Given the description of an element on the screen output the (x, y) to click on. 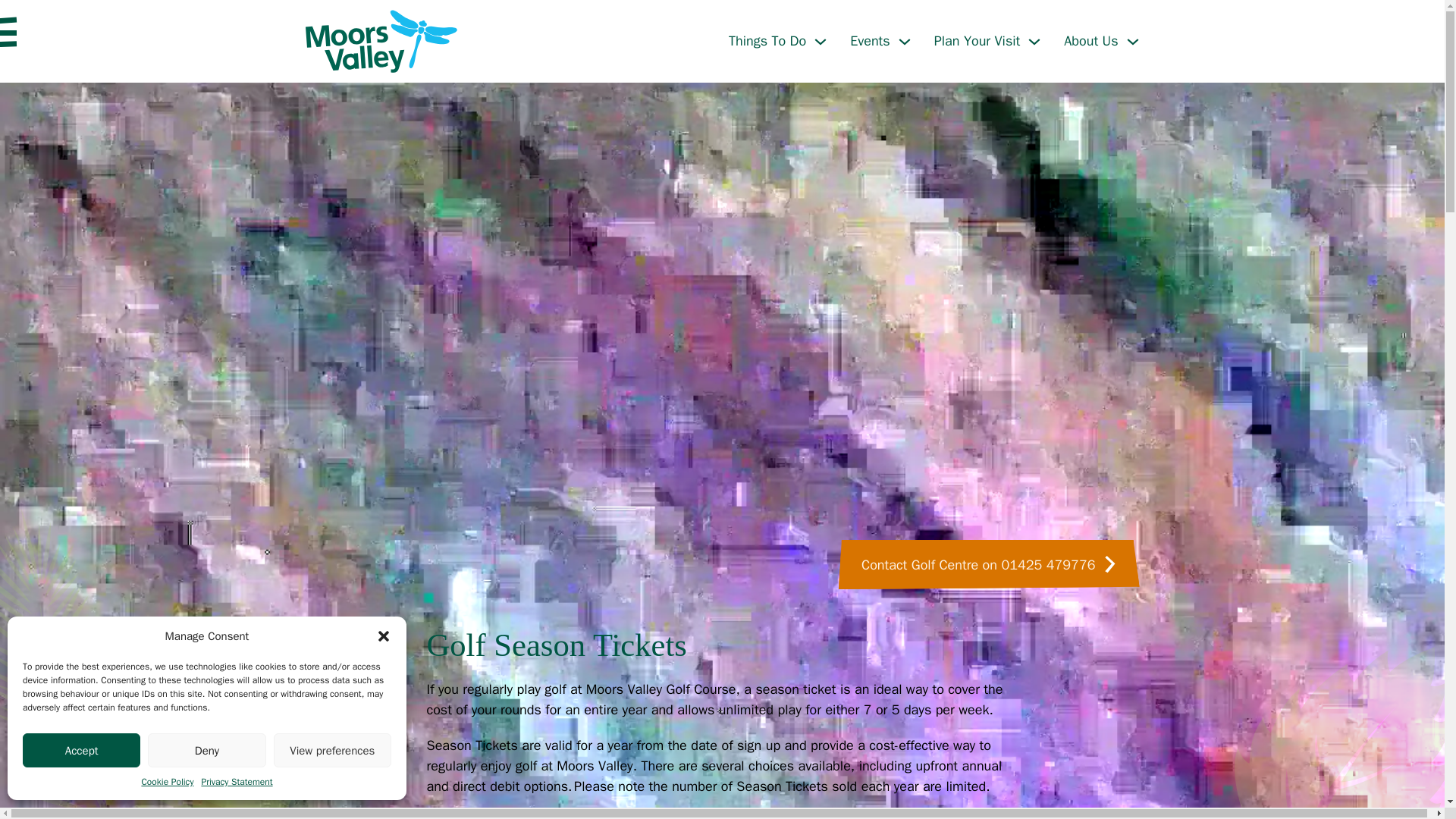
Deny (206, 750)
Cookie Policy (167, 781)
Accept (722, 41)
View preferences (81, 750)
Plan Your Visit (332, 750)
Things To Do (977, 40)
Privacy Statement (767, 40)
